Given the description of an element on the screen output the (x, y) to click on. 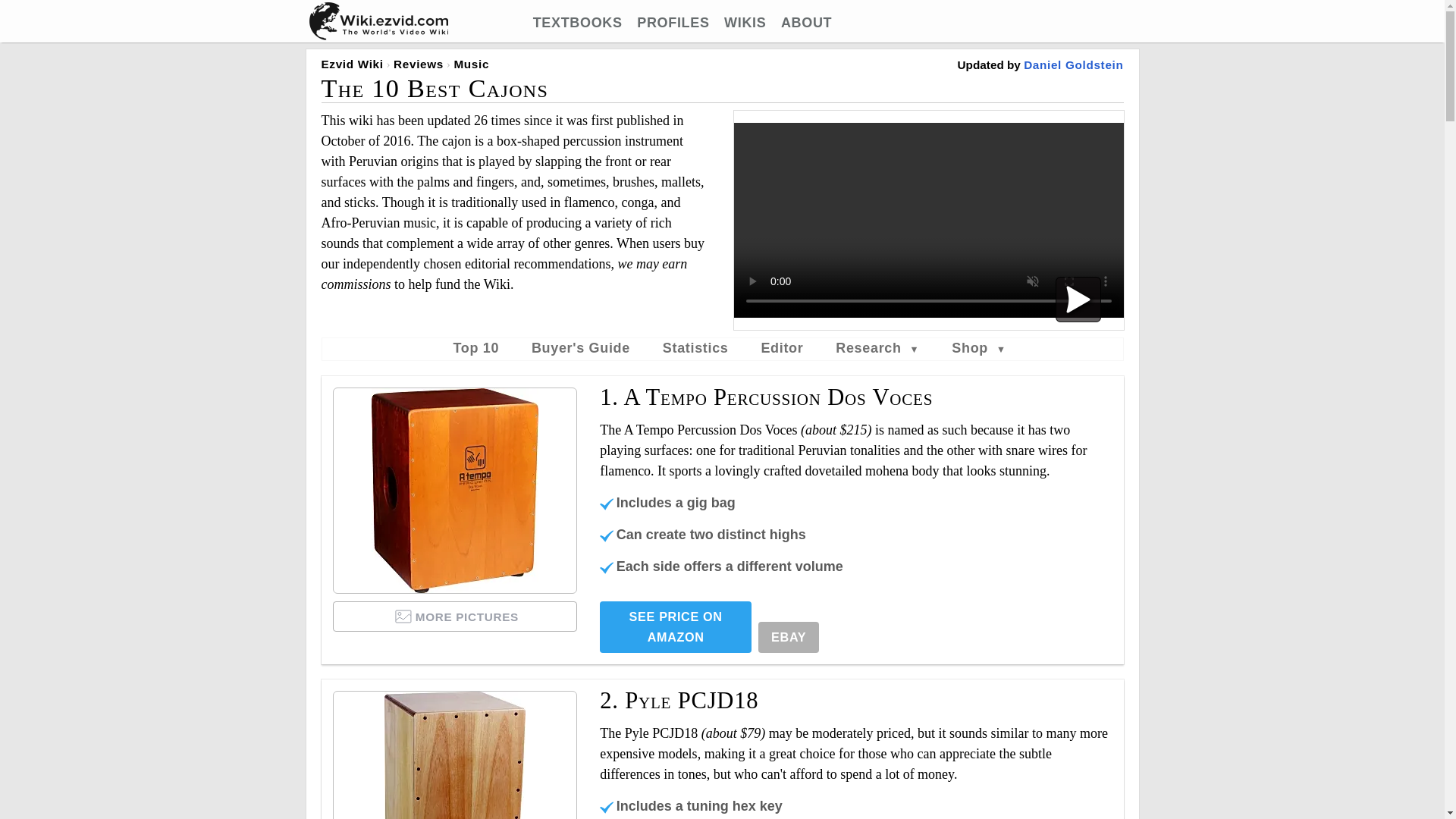
Reviews (418, 63)
PROFILES (673, 22)
Top 10 (475, 347)
WIKIS (744, 22)
ABOUT (805, 22)
EBAY (788, 636)
Editor (781, 347)
TEXTBOOKS (577, 22)
Ezvid Wiki (352, 63)
Music (470, 63)
MORE PICTURES (454, 615)
Daniel Goldstein (1072, 64)
SEE PRICE ON AMAZON (675, 626)
Buyer's Guide (580, 347)
Statistics (695, 347)
